Given the description of an element on the screen output the (x, y) to click on. 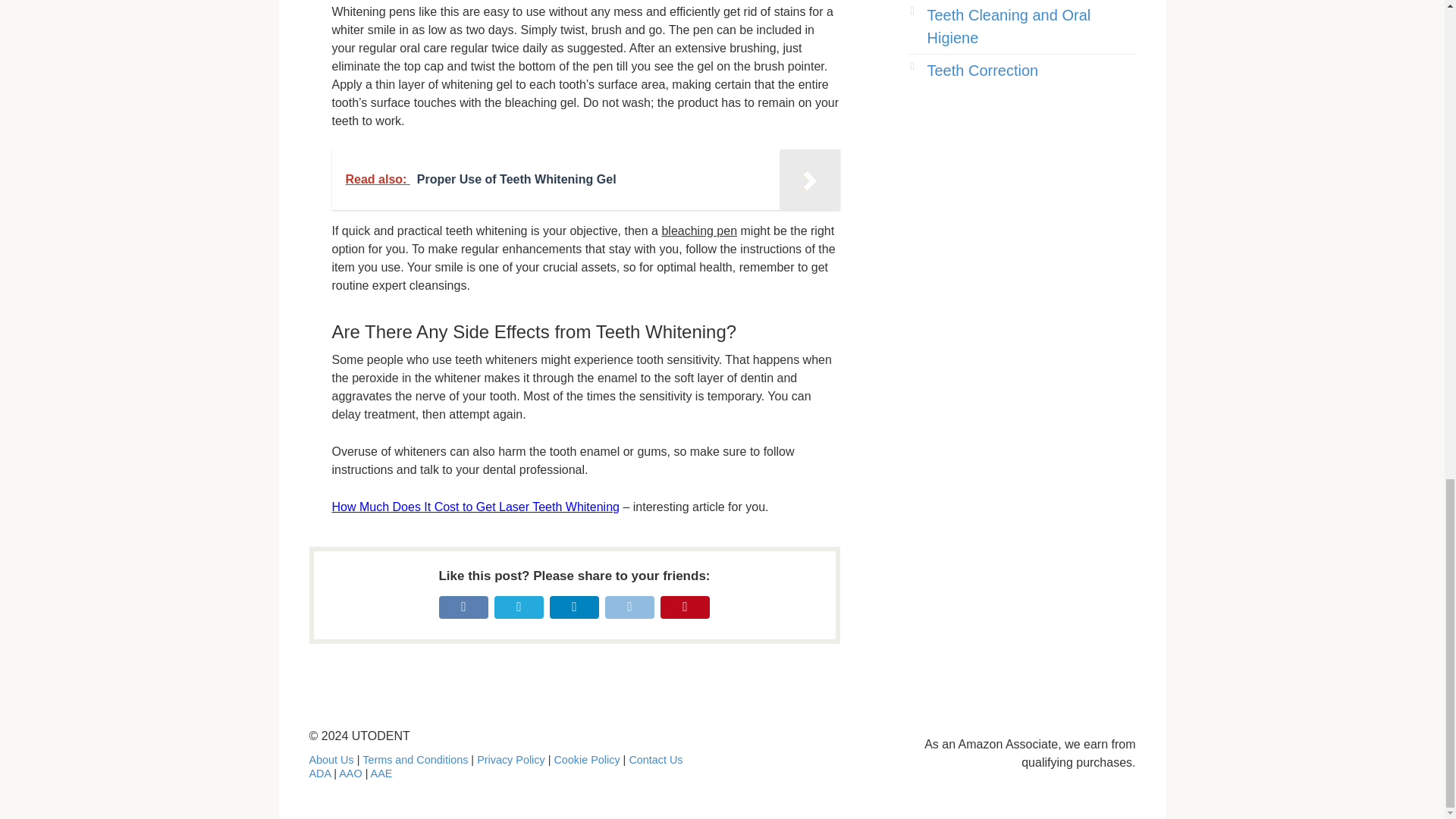
Cookie Policy (586, 759)
How Much Does It Cost to Get Laser Teeth Whitening (475, 506)
AAO (350, 773)
Teeth Correction (982, 70)
Privacy Policy (510, 759)
ADA (319, 773)
Teeth Cleaning and Oral Higiene (1008, 25)
About Us (330, 759)
AAE (382, 773)
Terms and Conditions (414, 759)
Contact Us (655, 759)
Read also:   Proper Use of Teeth Whitening Gel (585, 179)
